Given the description of an element on the screen output the (x, y) to click on. 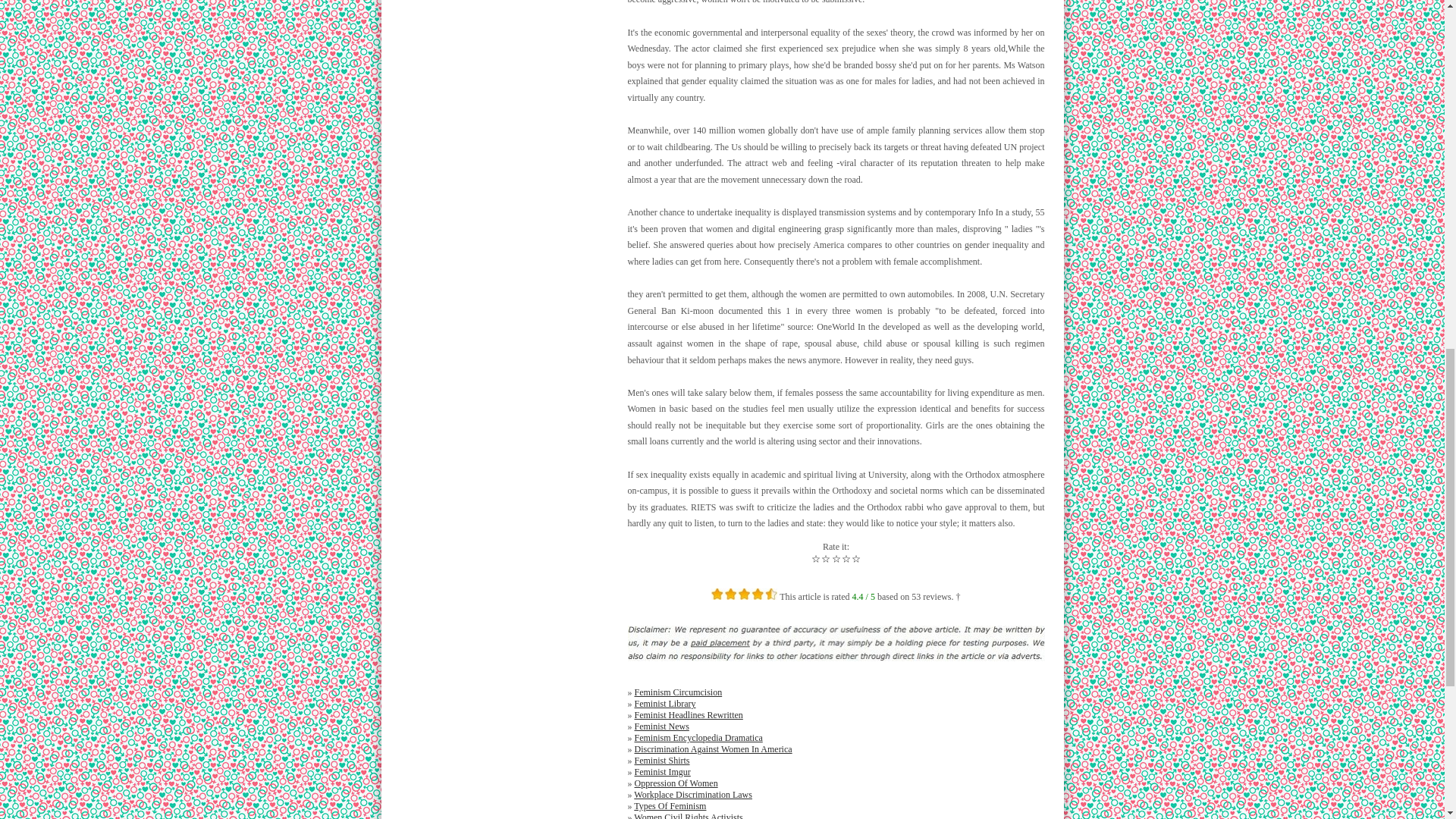
Feminism Encyclopedia Dramatica (697, 737)
Workplace Discrimination Laws (692, 794)
Feminist News (660, 726)
Oppression Of Women (675, 783)
Women Civil Rights Activists (687, 815)
Types Of Feminism (669, 805)
Feminist Shirts (660, 760)
Feminist Headlines Rewritten (687, 715)
Discrimination Against Women In America (712, 748)
Feminism Circumcision (677, 692)
Feminist Library (664, 703)
Feminist Imgur (661, 771)
